Given the description of an element on the screen output the (x, y) to click on. 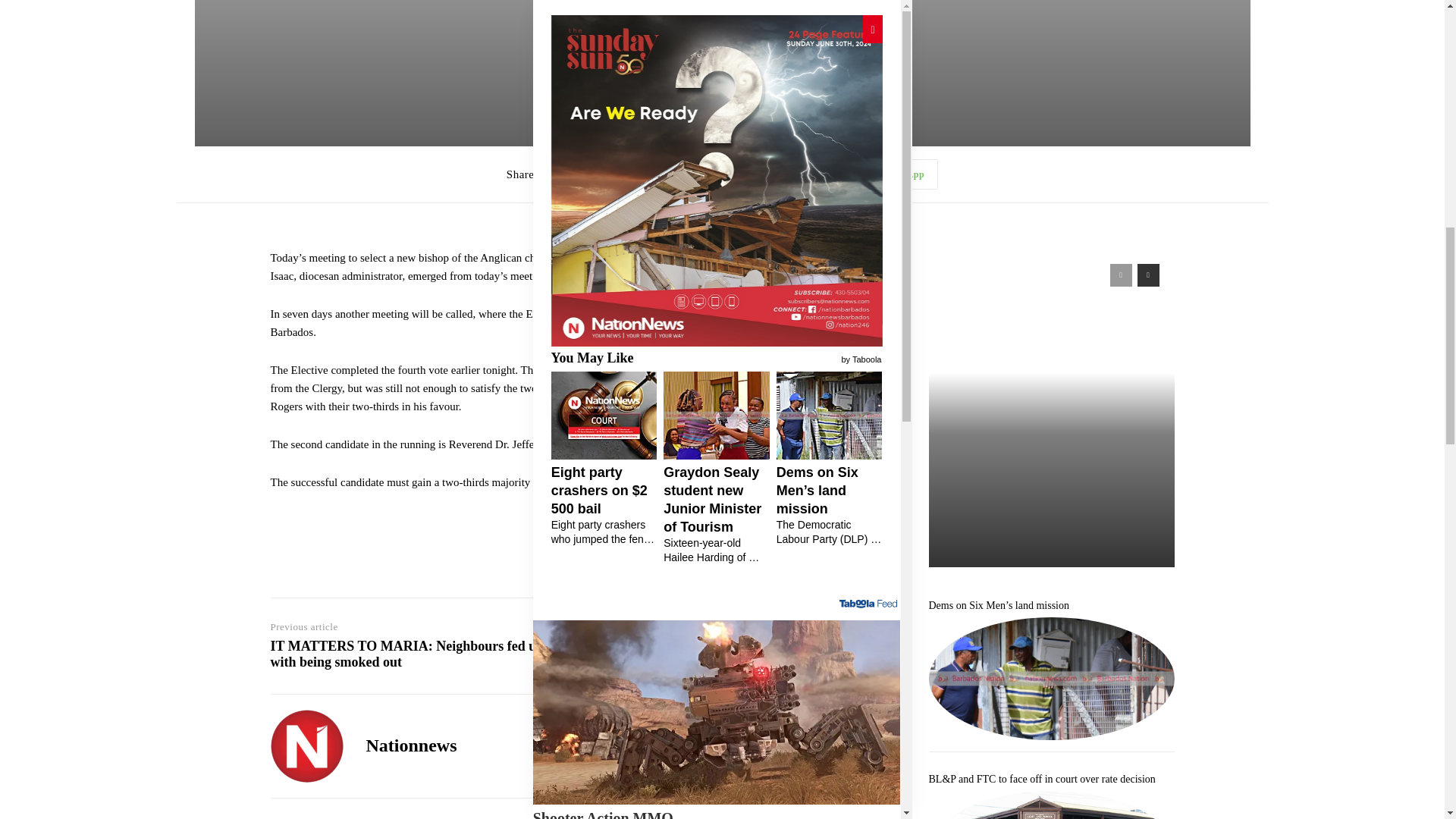
Sponsored (879, 249)
Sponsored (879, 548)
Sponsored (691, 249)
Shooter Action MMO (716, 22)
Sponsored (879, 40)
Play Now (561, 42)
